Given the description of an element on the screen output the (x, y) to click on. 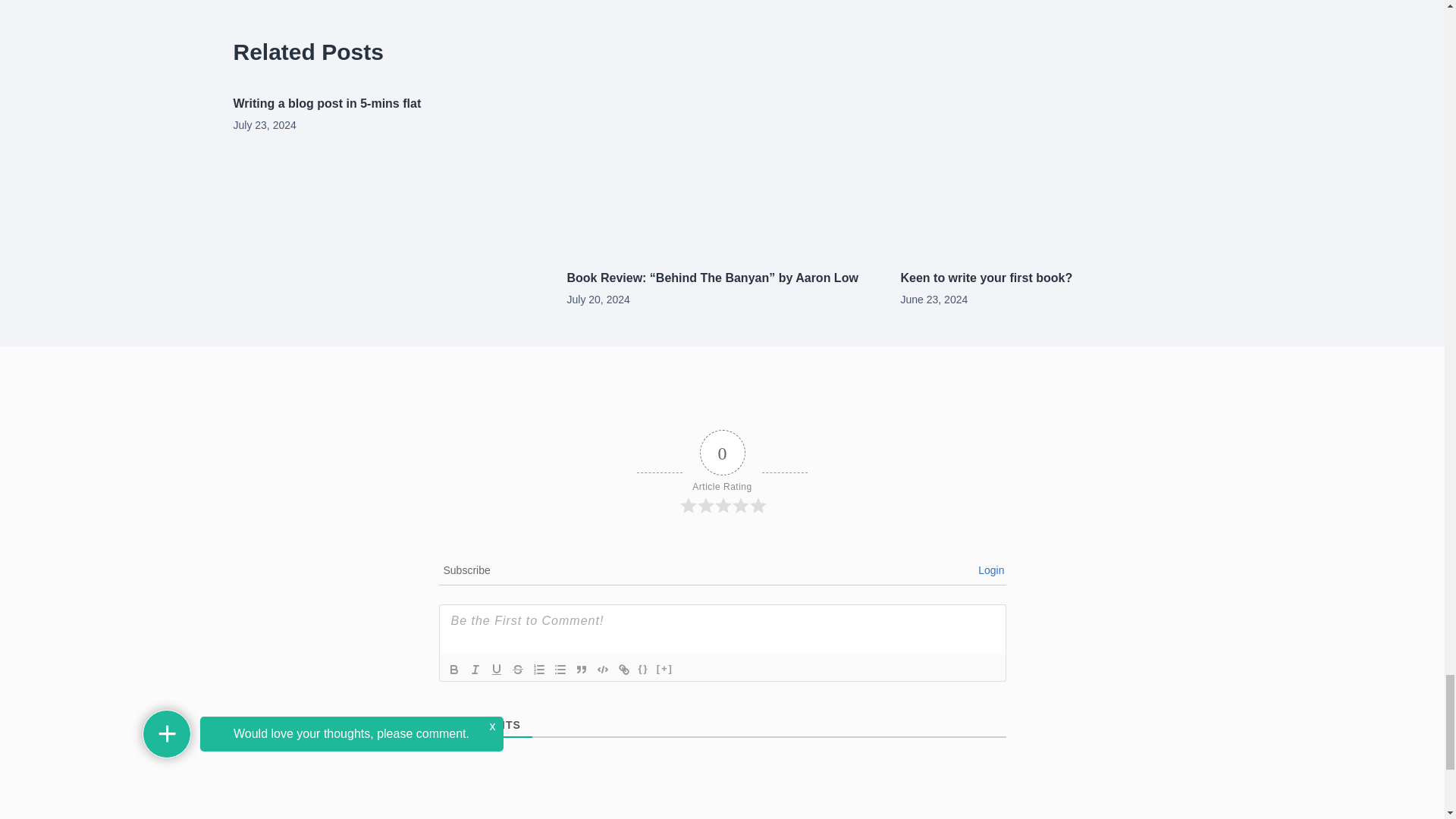
Bold (453, 669)
Italic (474, 669)
